Given the description of an element on the screen output the (x, y) to click on. 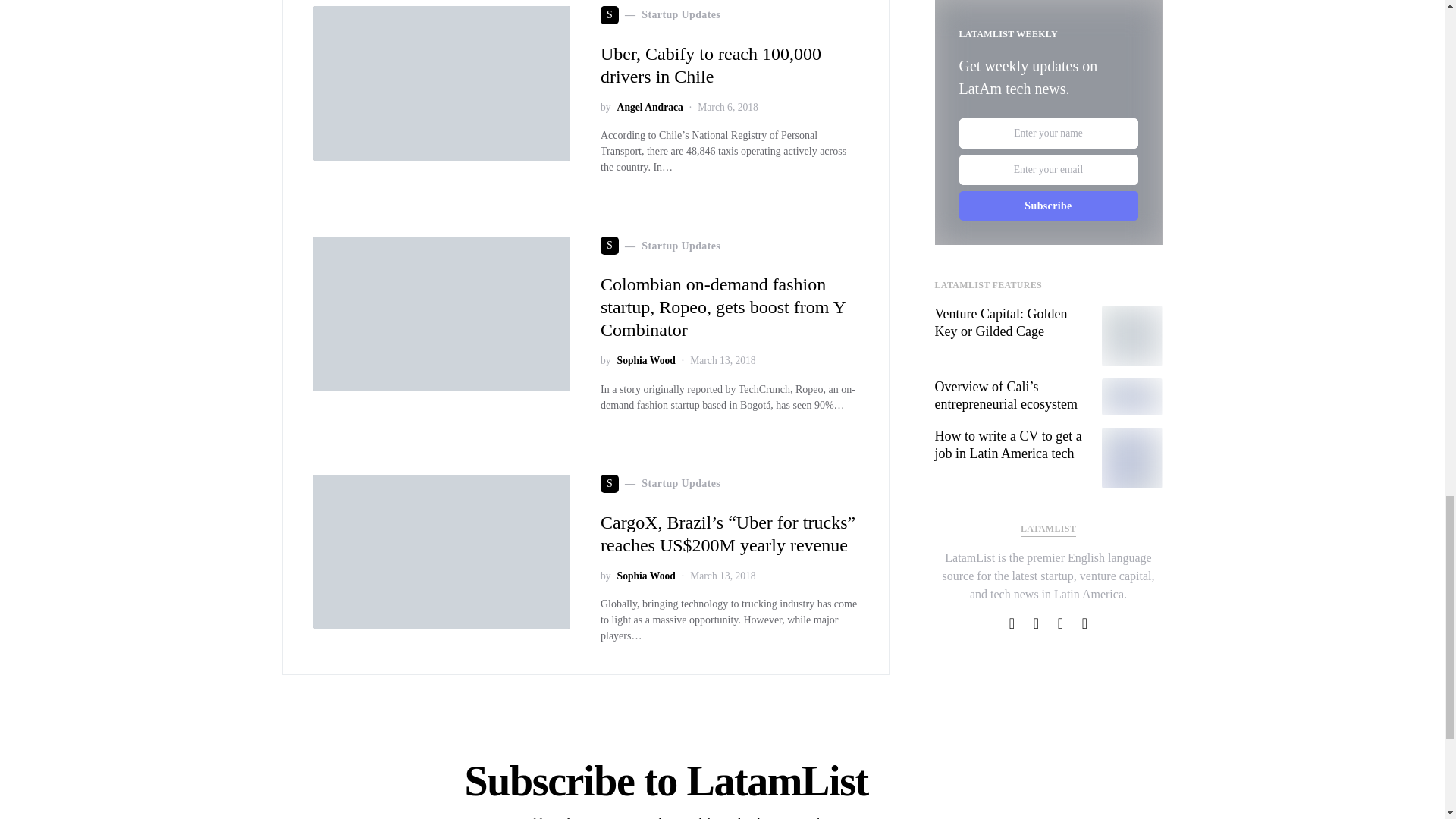
View all posts by Angel Andraca (649, 107)
View all posts by Sophia Wood (646, 360)
View all posts by Sophia Wood (646, 575)
